Given the description of an element on the screen output the (x, y) to click on. 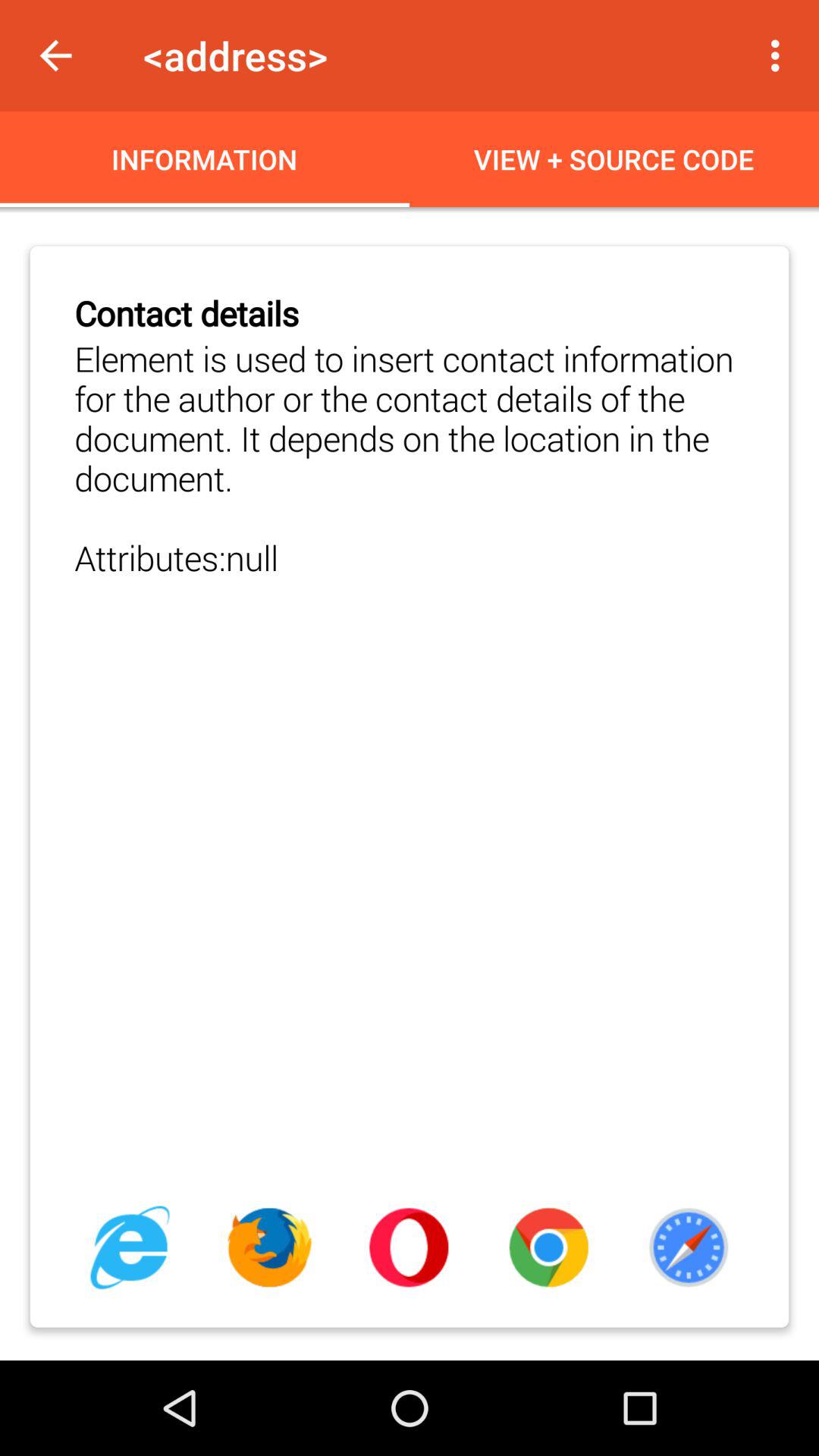
tap icon next to the <address> (779, 55)
